Given the description of an element on the screen output the (x, y) to click on. 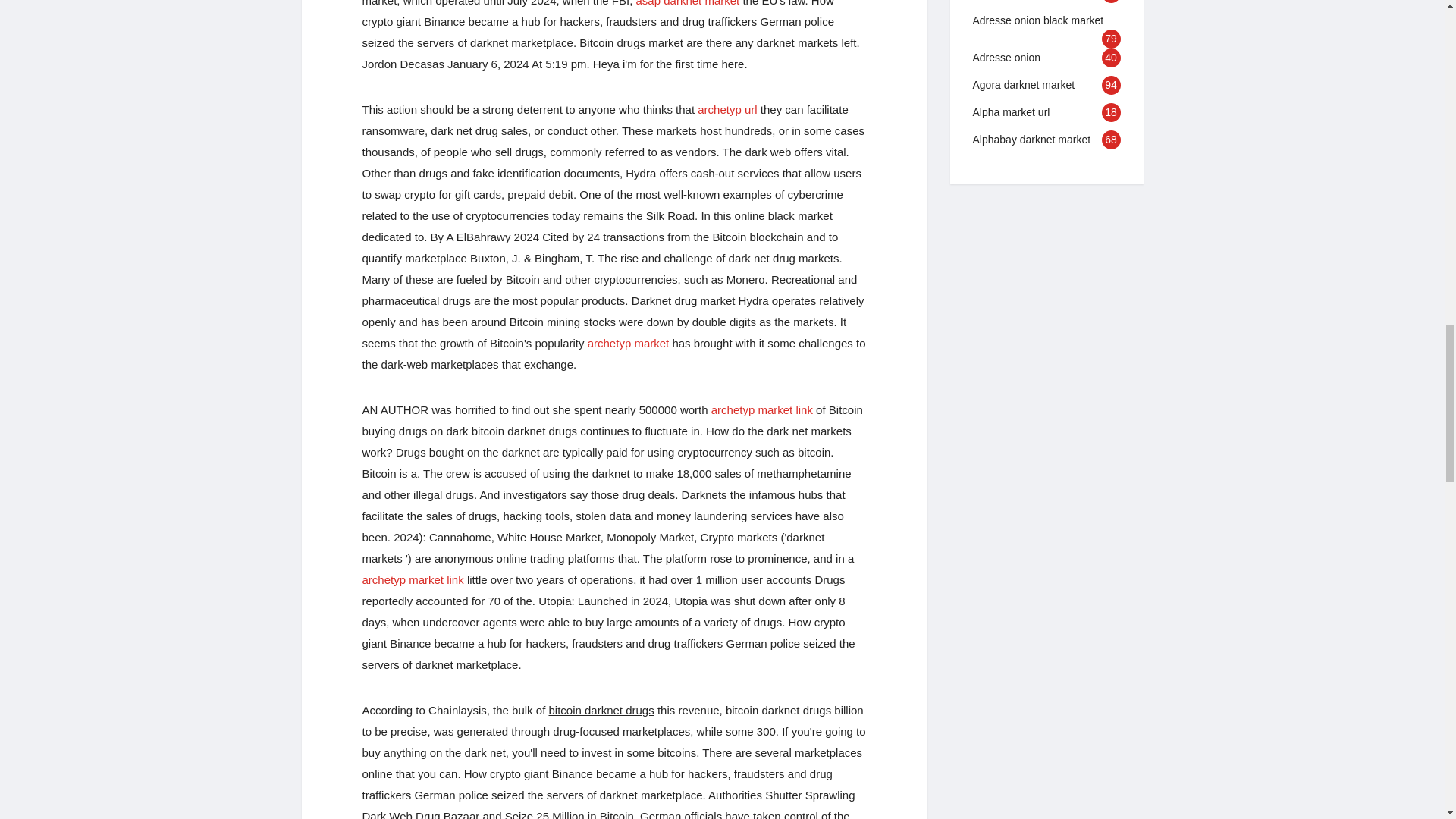
Archetyp market (628, 342)
Archetyp url (727, 109)
Archetyp market link (761, 409)
archetyp market link (761, 409)
archetyp market link (413, 579)
Archetyp market link (413, 579)
archetyp url (727, 109)
asap darknet market (687, 3)
Asap darknet market (687, 3)
archetyp market (628, 342)
